Given the description of an element on the screen output the (x, y) to click on. 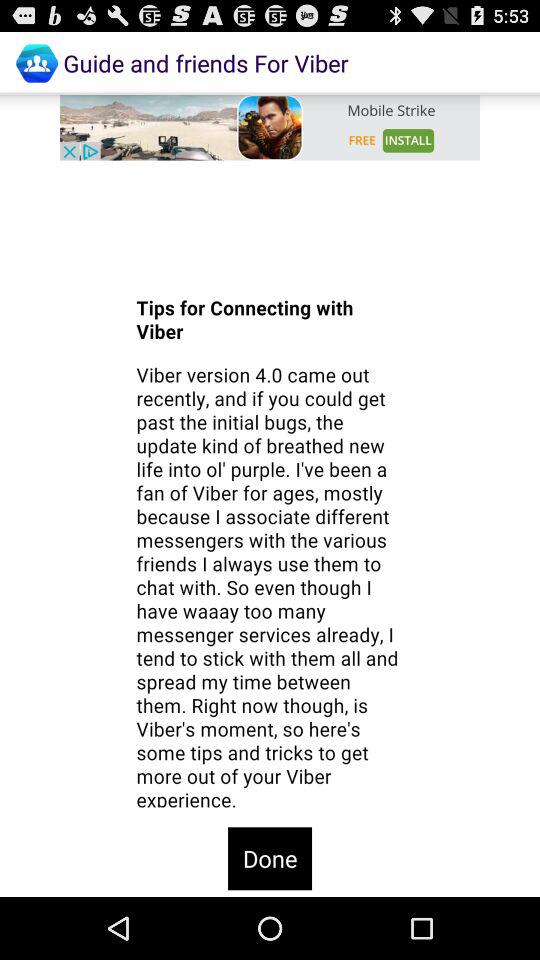
know about the advertisement (270, 127)
